Given the description of an element on the screen output the (x, y) to click on. 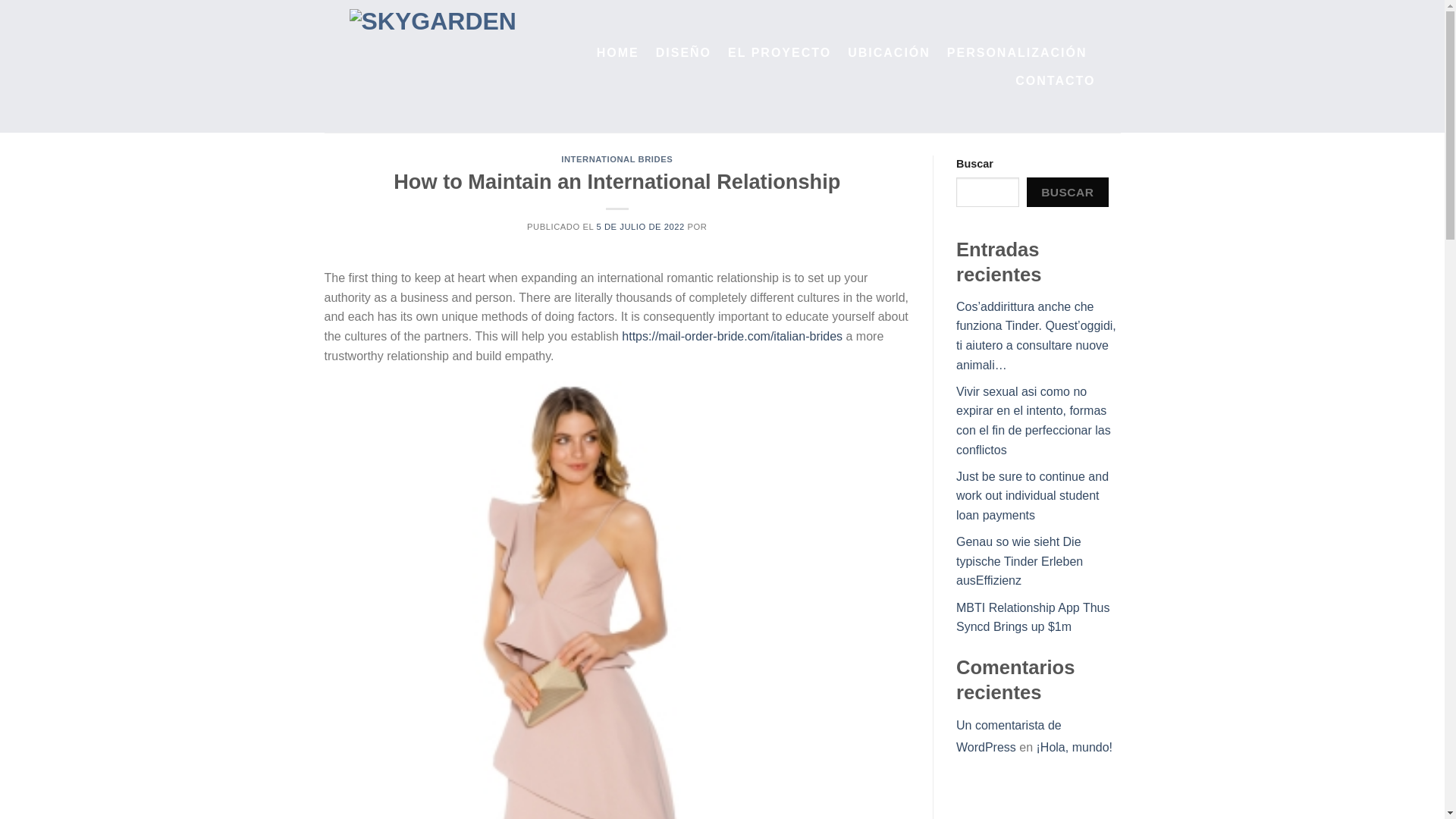
Genau so wie sieht Die typische Tinder Erleben ausEffizienz (1019, 561)
HOME (617, 52)
5 DE JULIO DE 2022 (639, 225)
Un comentarista de WordPress (1008, 736)
INTERNATIONAL BRIDES (616, 158)
BUSCAR (1067, 192)
CONTACTO (1054, 80)
EL PROYECTO (779, 52)
